Given the description of an element on the screen output the (x, y) to click on. 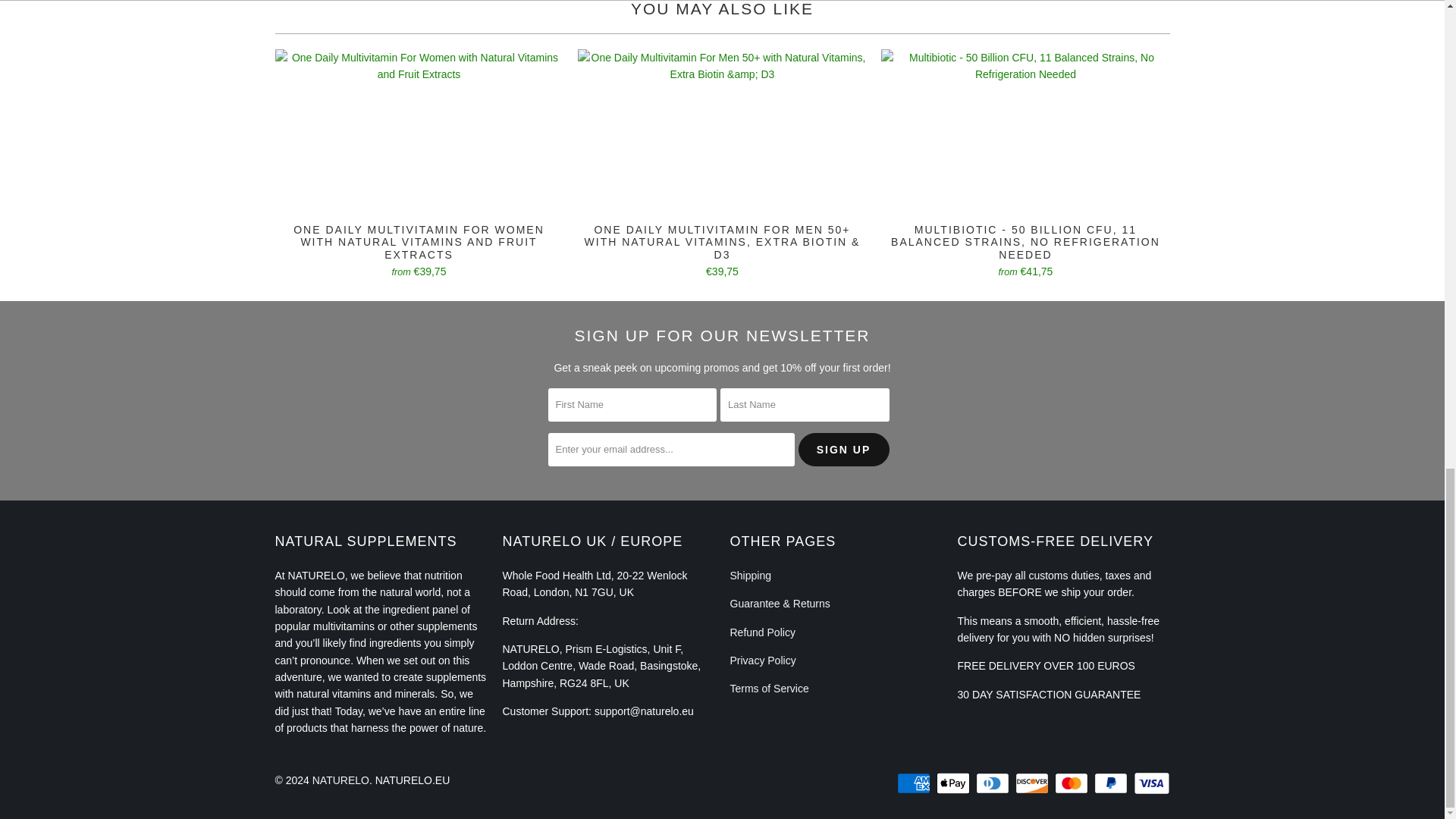
Apple Pay (954, 783)
Diners Club (993, 783)
Sign Up (842, 449)
PayPal (1112, 783)
Discover (1032, 783)
Visa (1150, 783)
American Express (914, 783)
Mastercard (1072, 783)
